Given the description of an element on the screen output the (x, y) to click on. 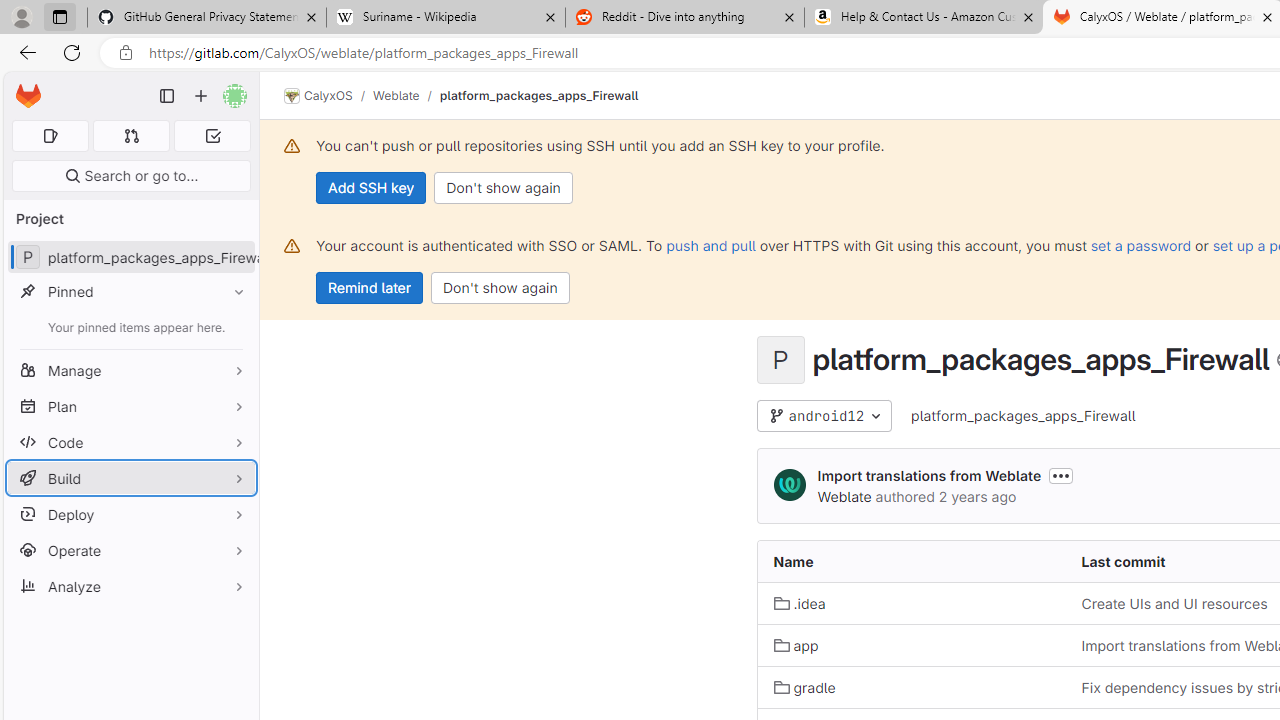
Weblate/ (406, 95)
